Given the description of an element on the screen output the (x, y) to click on. 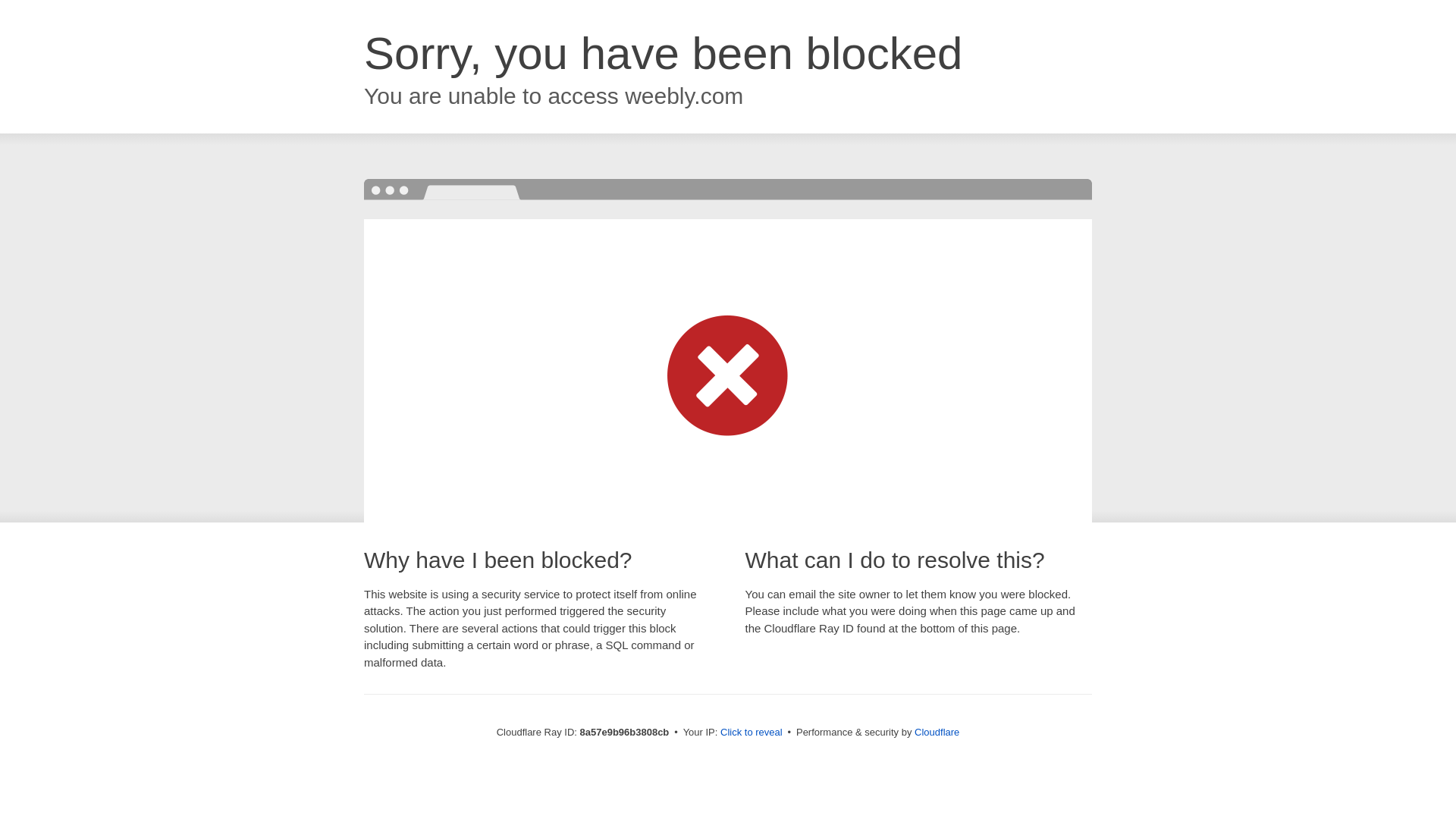
Cloudflare (936, 731)
Click to reveal (751, 732)
